Given the description of an element on the screen output the (x, y) to click on. 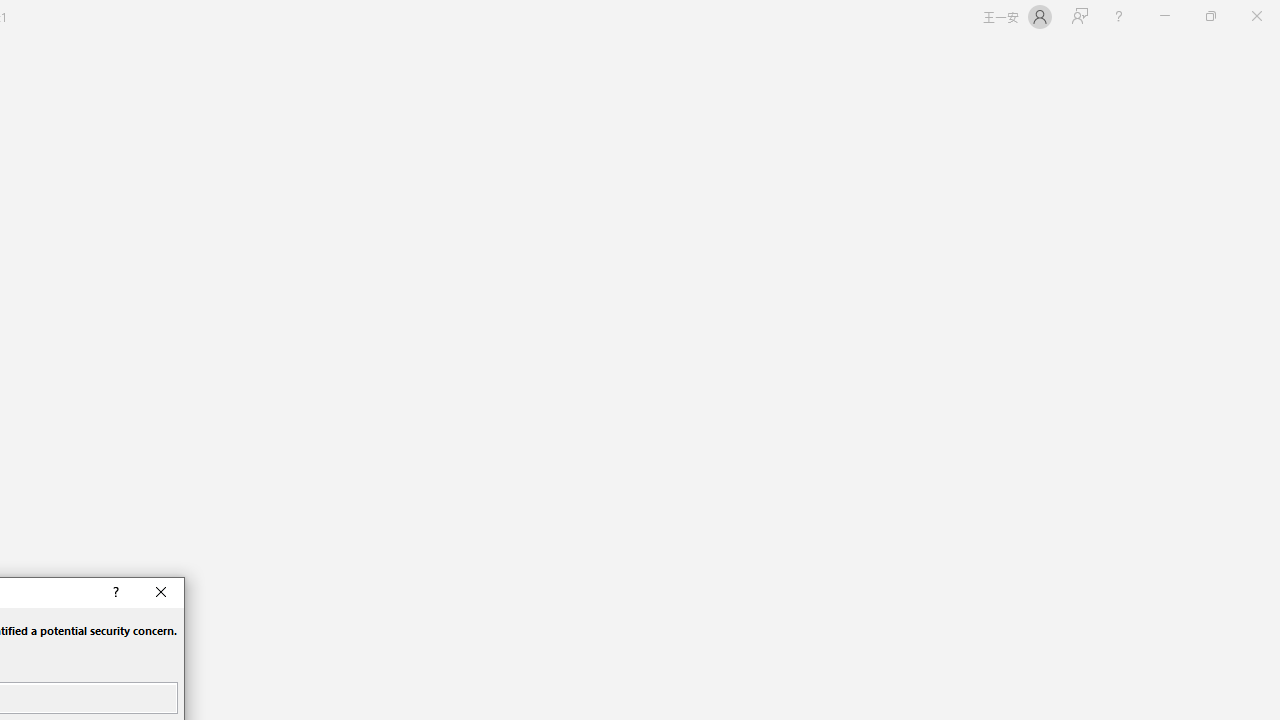
Context help (114, 592)
